Given the description of an element on the screen output the (x, y) to click on. 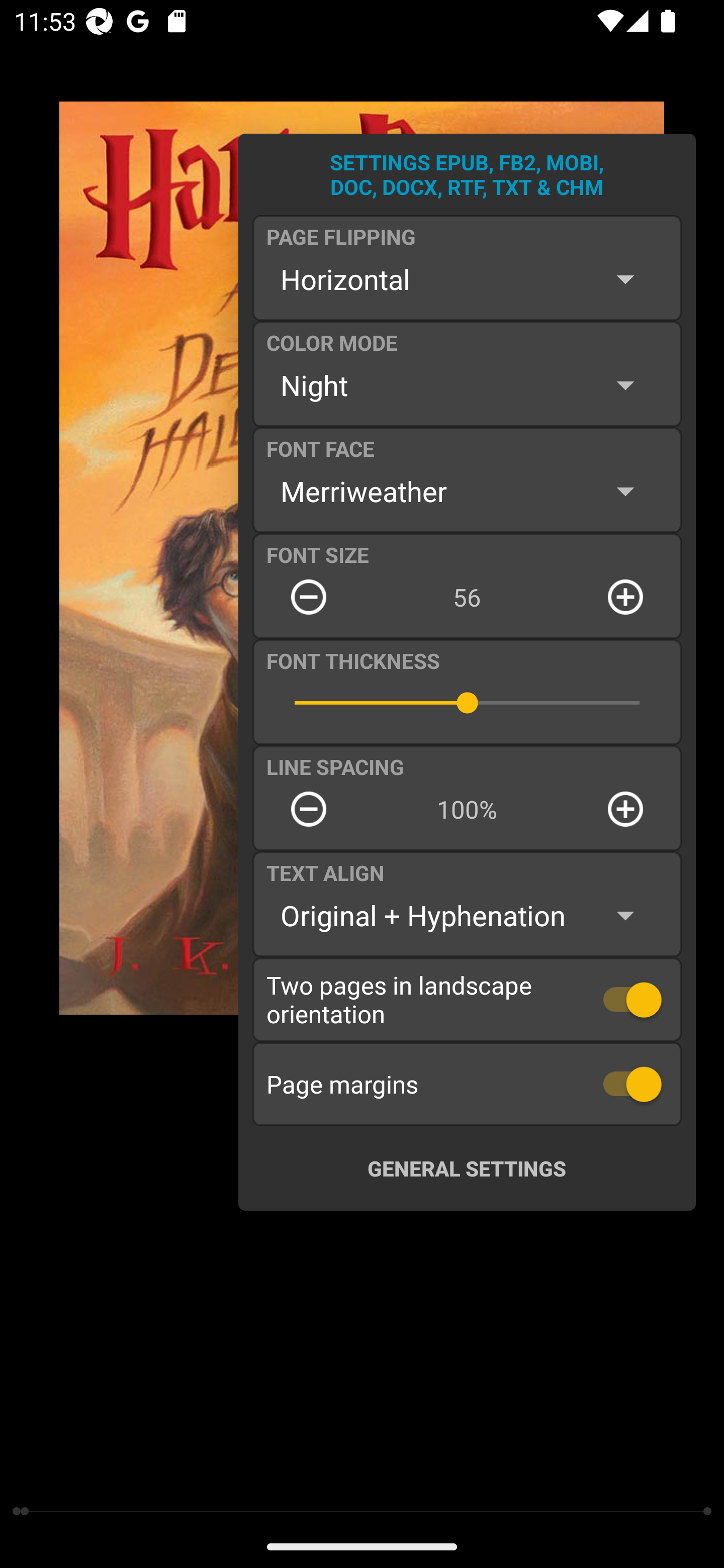
Horizontal (466, 278)
Night (466, 384)
Merriweather (466, 490)
Original + Hyphenation (466, 915)
Two pages in landscape orientation (467, 999)
Page margins (467, 1083)
GENERAL SETTINGS (466, 1167)
